Given the description of an element on the screen output the (x, y) to click on. 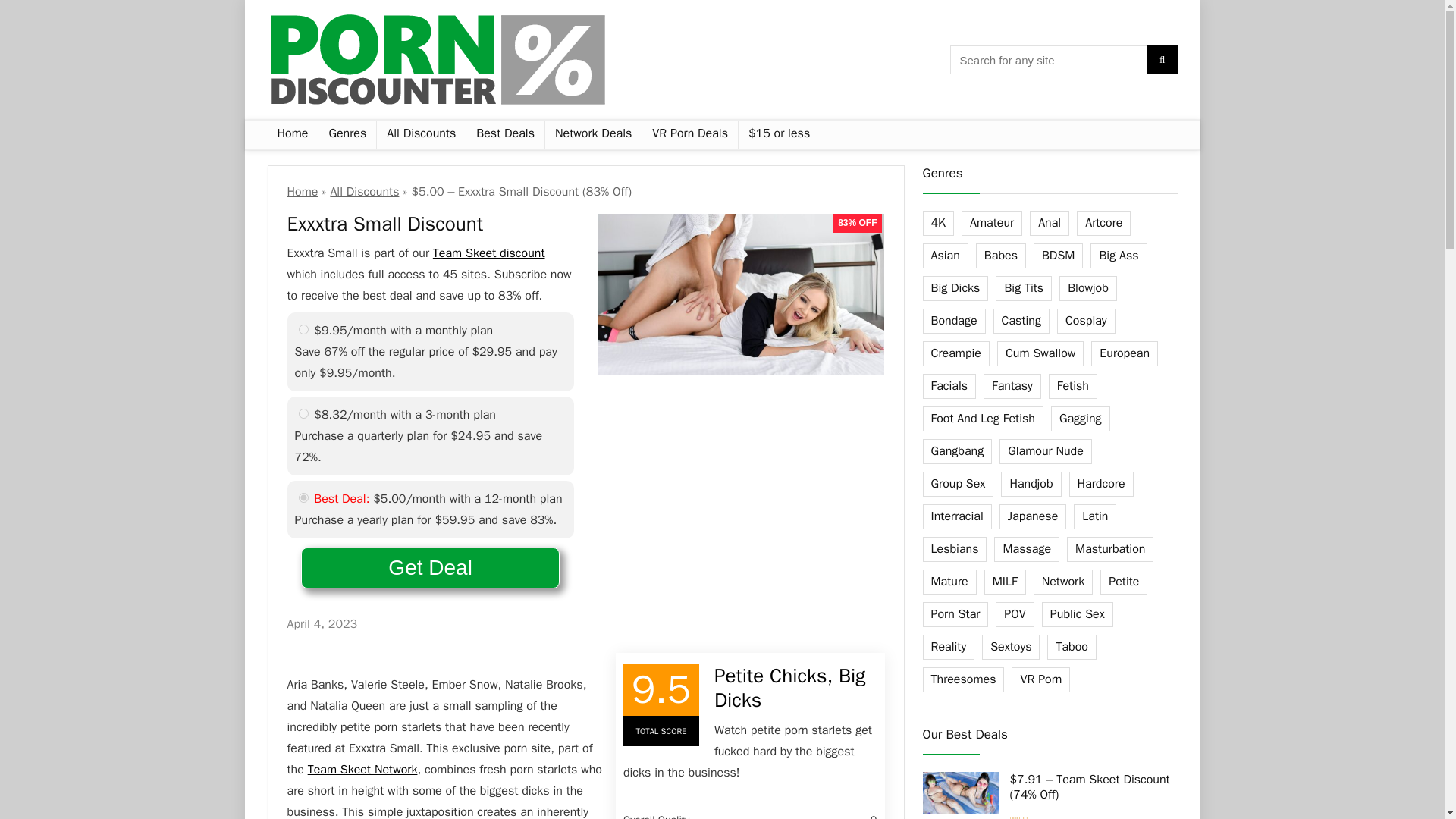
Get Deal (430, 567)
Home (301, 191)
Cheap Porn (778, 134)
All Discounts (421, 134)
Asian (944, 255)
Anal (1048, 222)
quarterly (303, 413)
yearly (303, 497)
Team Skeet Network (362, 769)
Artcore (1104, 222)
